Given the description of an element on the screen output the (x, y) to click on. 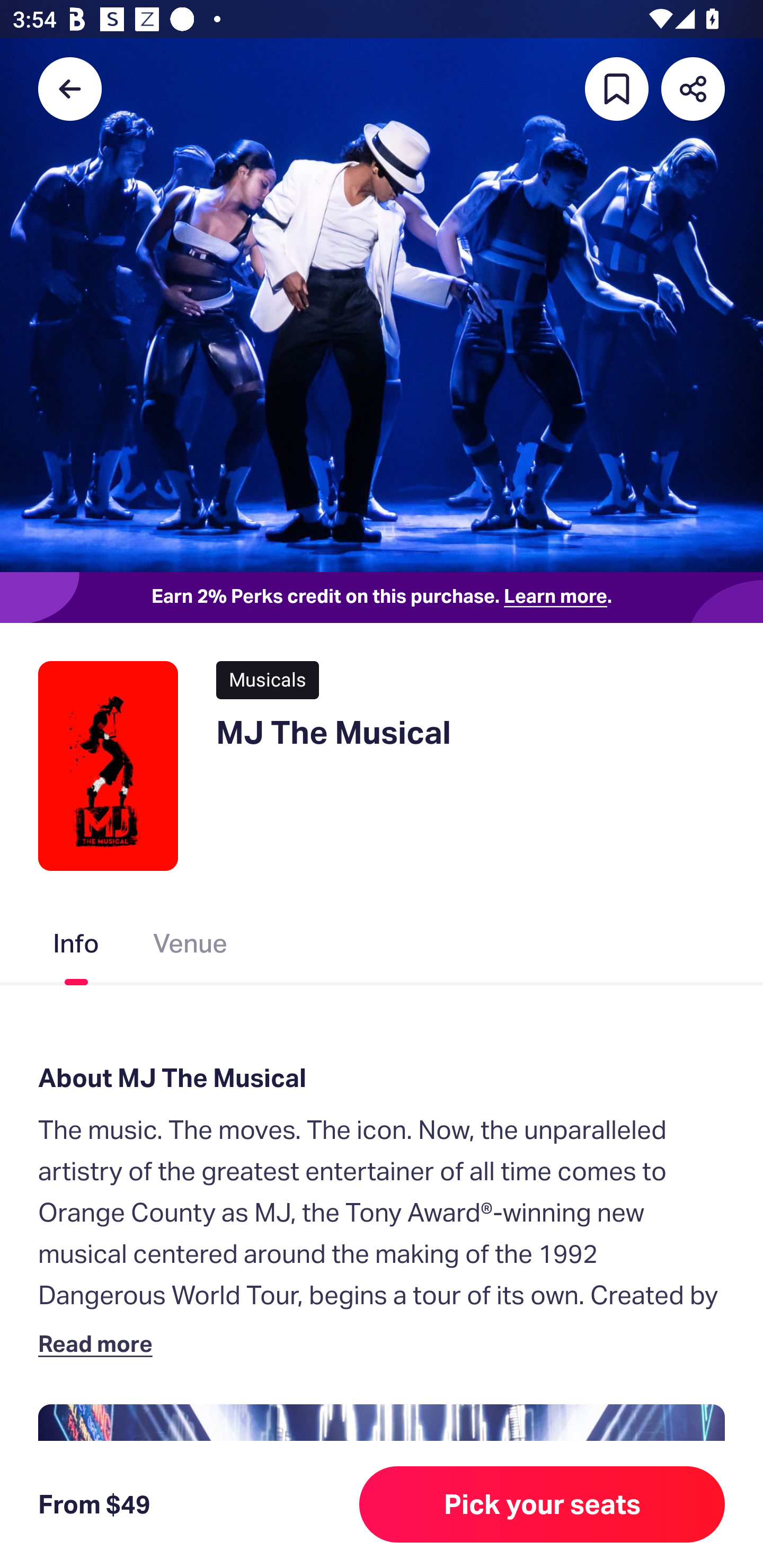
Earn 2% Perks credit on this purchase. Learn more. (381, 597)
Venue (190, 946)
About MJ The Musical (381, 1077)
Read more (99, 1342)
Pick your seats (541, 1504)
